Given the description of an element on the screen output the (x, y) to click on. 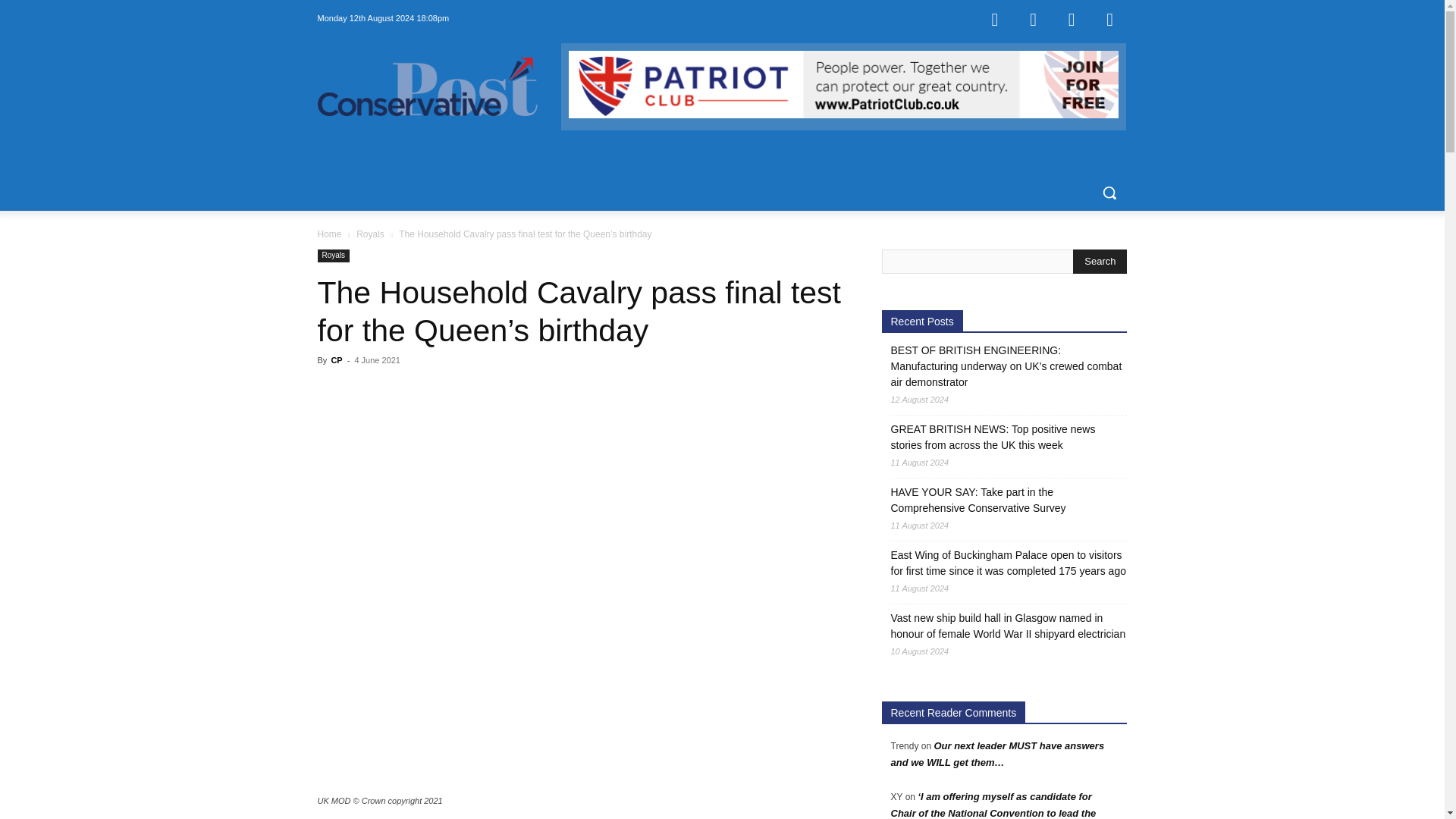
Home (328, 234)
Conservative Post (438, 86)
Conservative Post (427, 86)
Royals (370, 234)
Instagram (1033, 18)
Facebook (993, 18)
Royals (333, 255)
View all posts in Royals (370, 234)
Search (1099, 261)
Twitter (1071, 18)
